Given the description of an element on the screen output the (x, y) to click on. 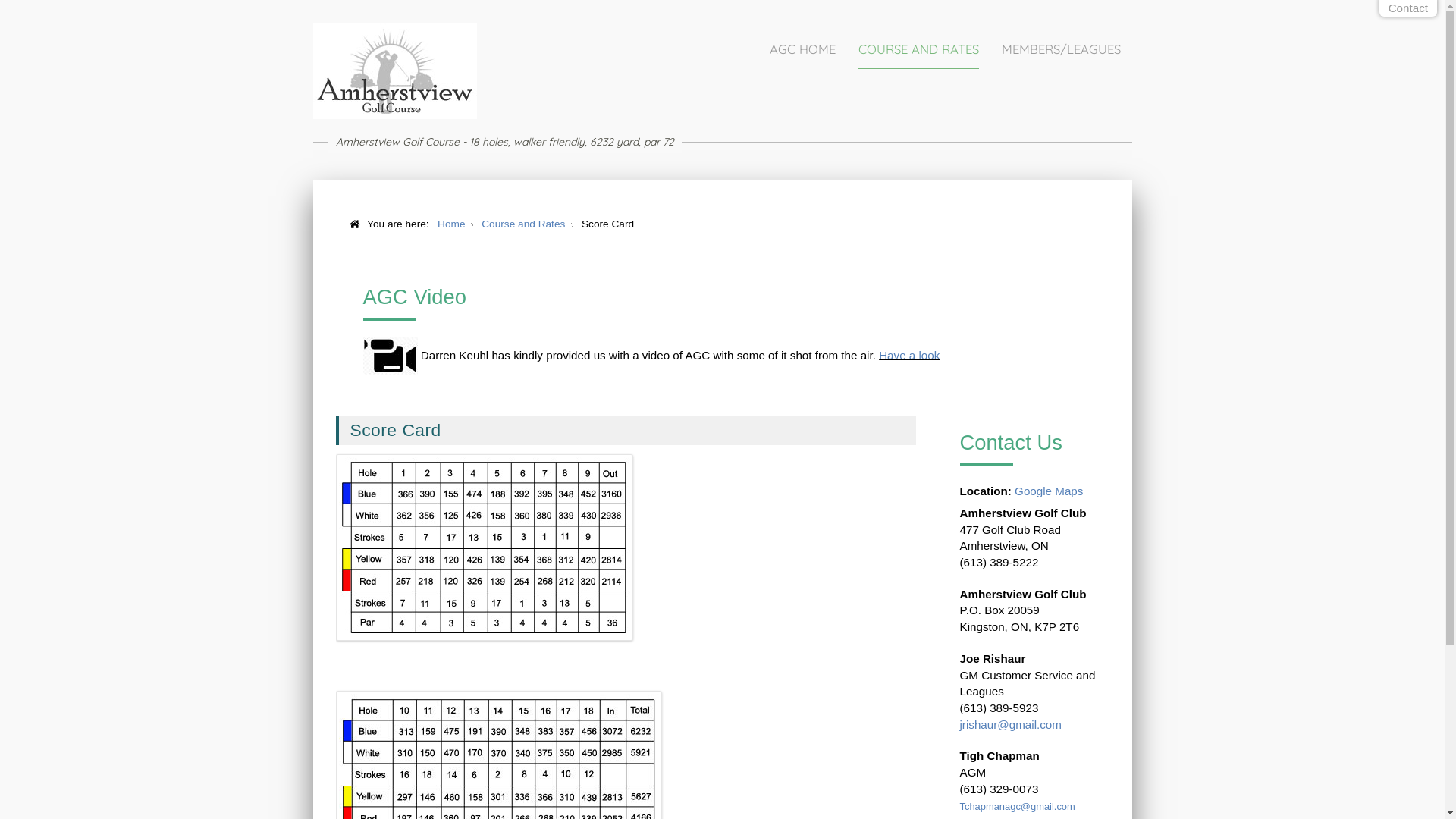
AGC HOME Element type: text (801, 49)
Have a look Element type: text (908, 354)
jrishaur@gmail.com Element type: text (1010, 724)
Tchapmanagc@gmail.com Element type: text (1017, 806)
MEMBERS/LEAGUES Element type: text (1060, 49)
COURSE AND RATES Element type: text (918, 49)
Home Element type: text (450, 223)
Score Card Element type: text (395, 429)
Course and Rates Element type: text (522, 223)
Google Maps Element type: text (1048, 490)
